Given the description of an element on the screen output the (x, y) to click on. 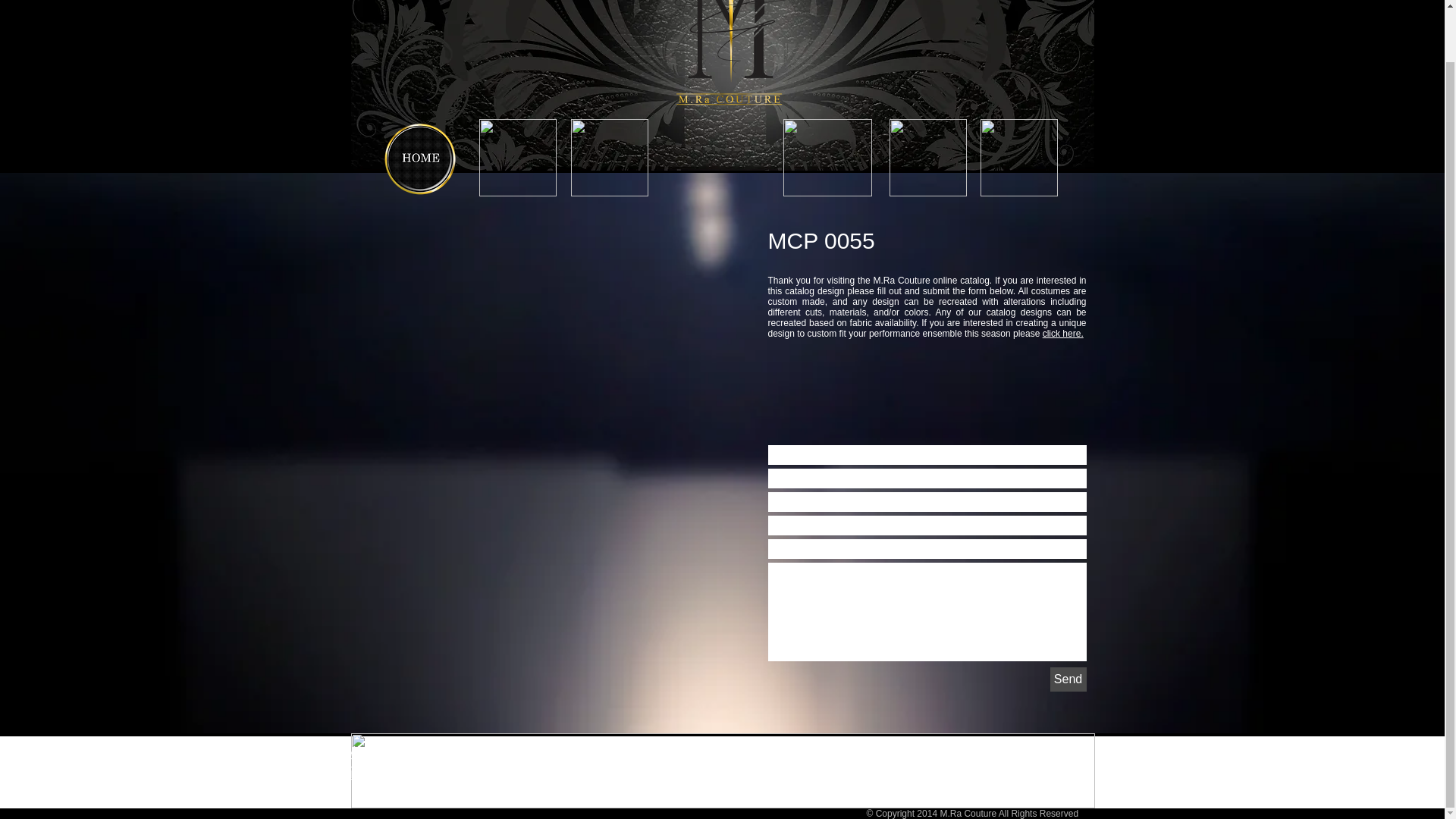
Measurements (514, 749)
MRA HEAD4.jpg (721, 85)
click here. (1062, 333)
Send (1067, 679)
Privacy Policy (383, 774)
About (364, 749)
Terms and Conditions (401, 761)
Diamante (1055, 758)
Care Instructions (519, 774)
Design Templates (521, 761)
